Given the description of an element on the screen output the (x, y) to click on. 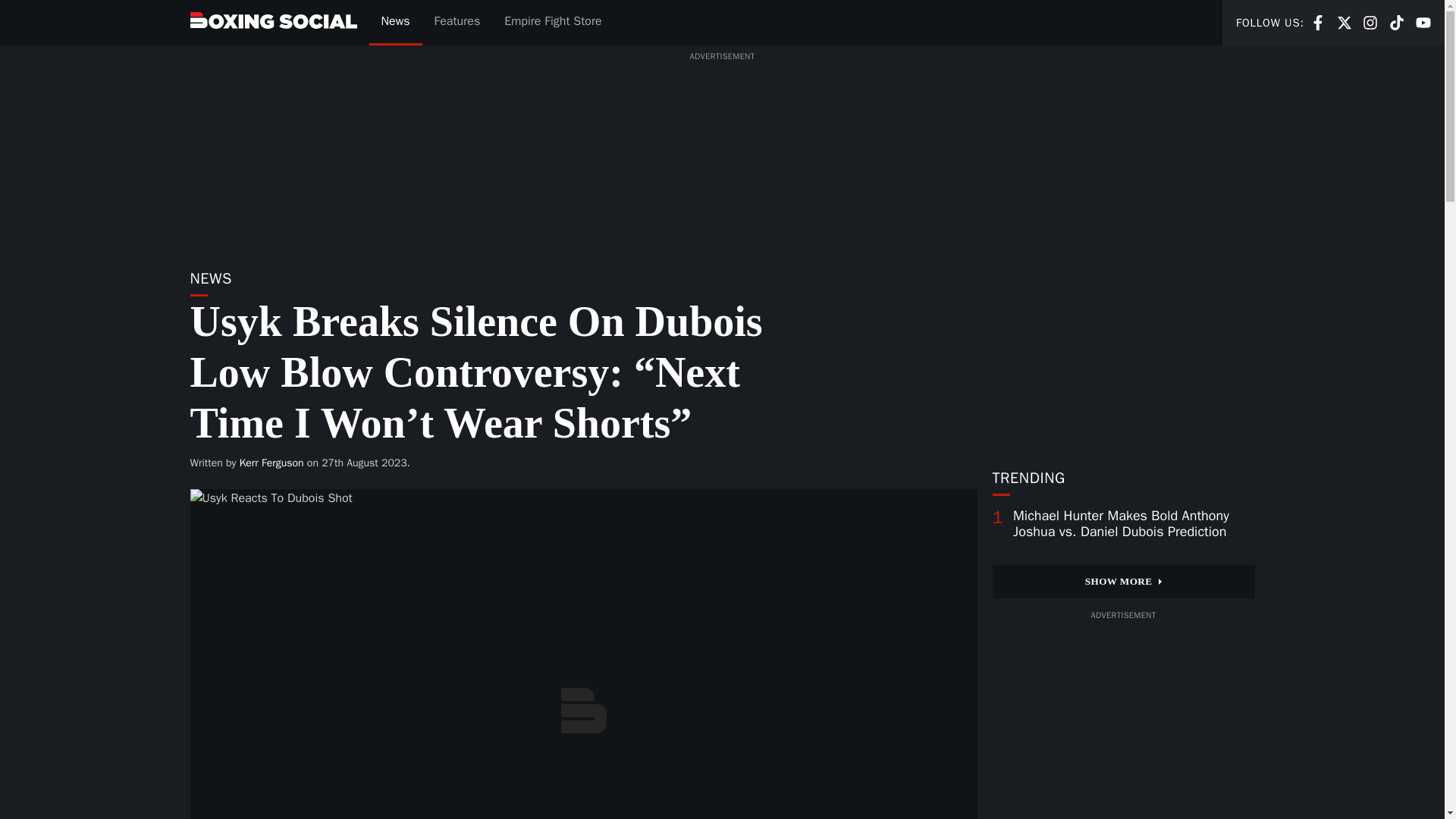
Kerr Ferguson (1317, 21)
Features (1397, 21)
FACEBOOK (272, 462)
Empire Fight Store (1344, 21)
X (457, 22)
News (1317, 22)
